Given the description of an element on the screen output the (x, y) to click on. 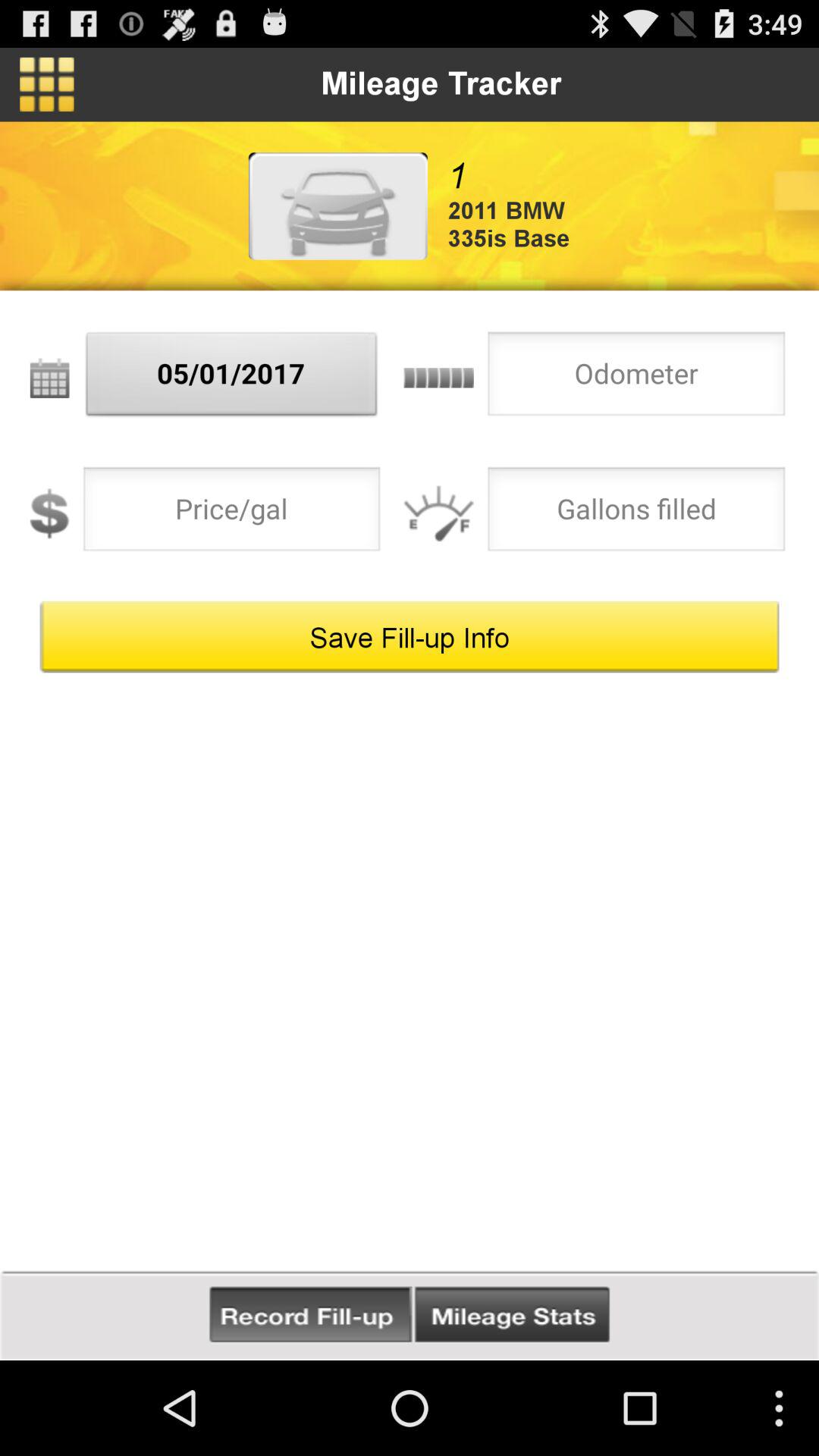
press icon next to 1  item (337, 205)
